Given the description of an element on the screen output the (x, y) to click on. 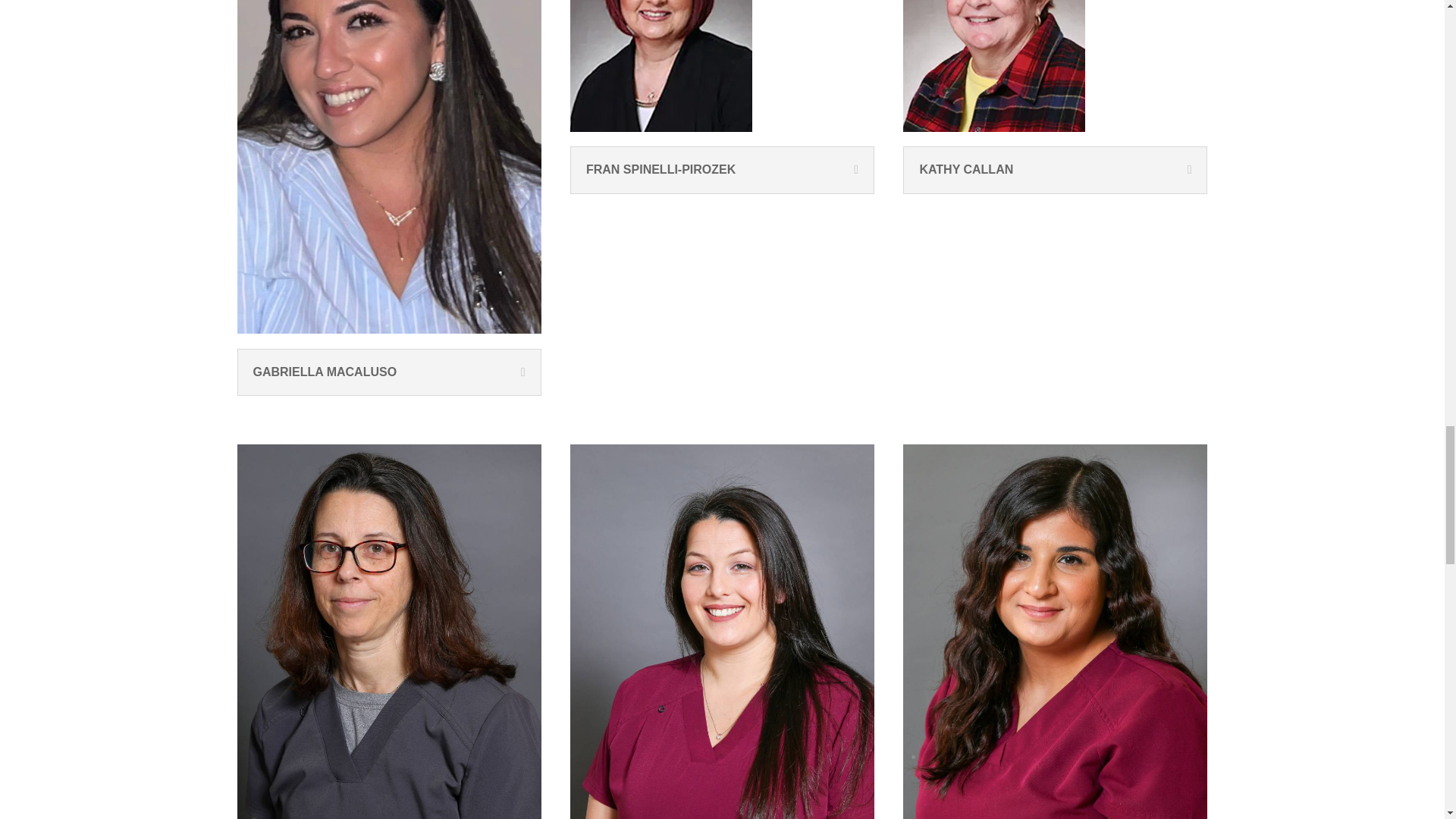
Gabriella (387, 167)
Kathy wesbite (993, 65)
dd8a9704-34f2-40f1-a48d-5046e02293c1 (661, 65)
